Given the description of an element on the screen output the (x, y) to click on. 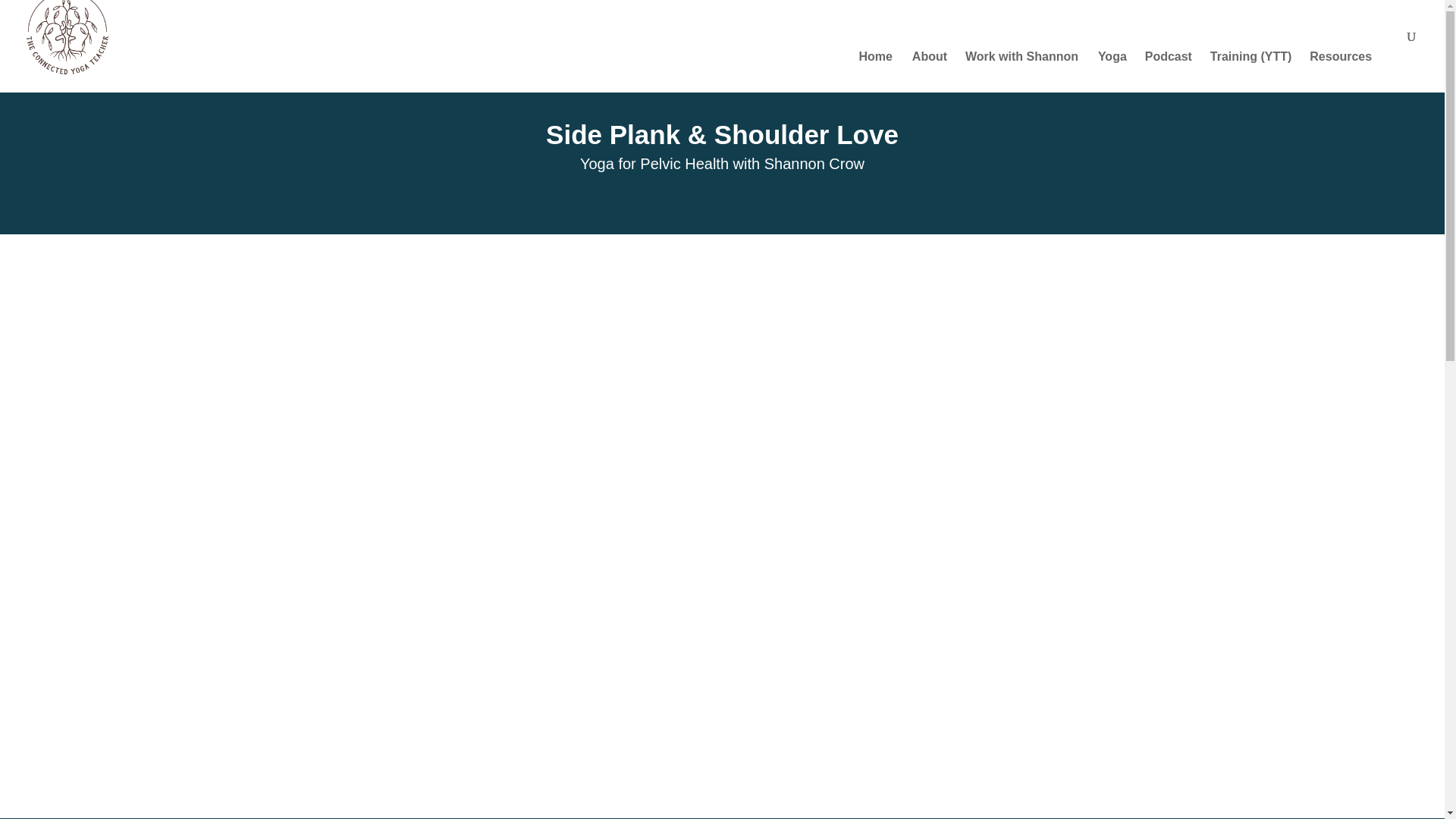
Yoga (1119, 71)
About (937, 71)
Resources (1347, 71)
Work with Shannon (1021, 71)
Podcast (1175, 71)
